Given the description of an element on the screen output the (x, y) to click on. 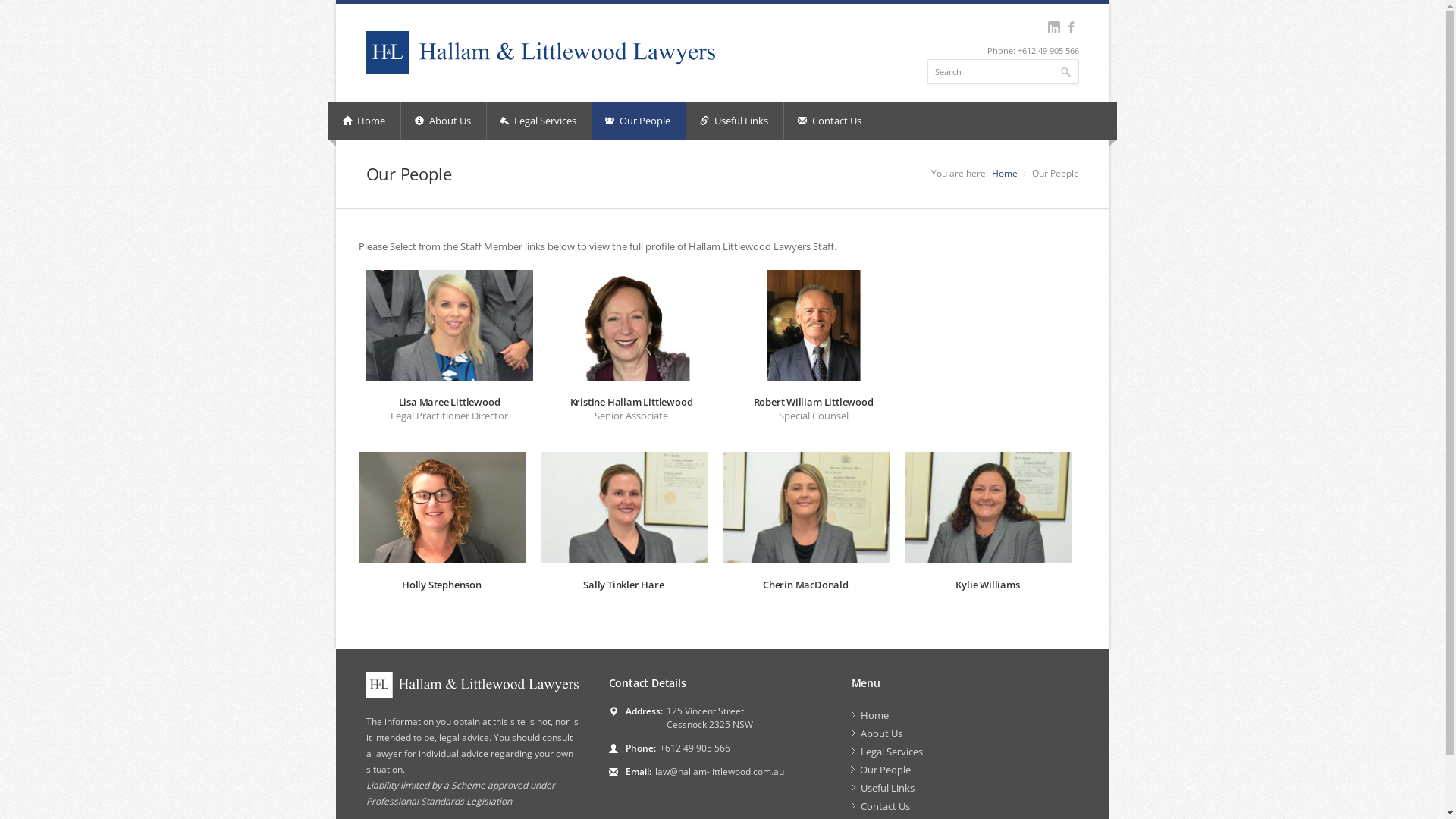
law@hallam-littlewood.com.au Element type: text (719, 771)
Contact Us Element type: text (830, 120)
Home Element type: text (964, 715)
facebook Element type: text (1071, 27)
About Us Element type: text (964, 733)
linkedin Element type: text (1053, 27)
Legal Services Element type: text (964, 751)
Useful Links Element type: text (735, 120)
Home Element type: text (1004, 172)
Contact Us Element type: text (964, 806)
Legal Services Element type: text (539, 120)
Our People Element type: text (638, 120)
Our People Element type: text (964, 769)
About Us Element type: text (443, 120)
Home Element type: text (365, 120)
Useful Links Element type: text (964, 787)
